Given the description of an element on the screen output the (x, y) to click on. 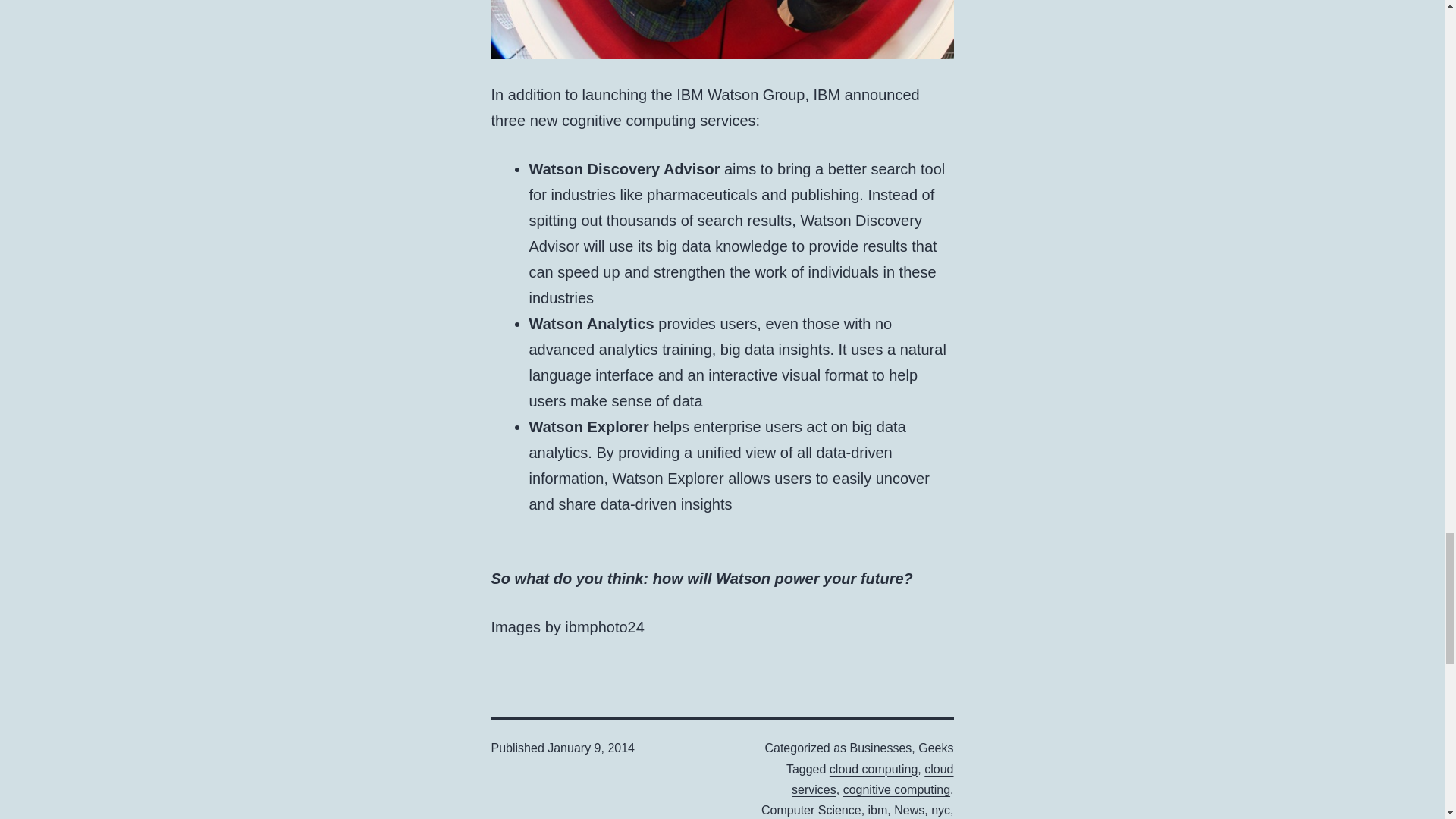
ibmphoto24 (604, 627)
ibm (877, 809)
nyc (940, 809)
Businesses (881, 748)
cognitive computing (896, 789)
Geeks (935, 748)
cloud computing (873, 768)
cloud services (872, 779)
News (908, 809)
Computer Science (811, 809)
